Given the description of an element on the screen output the (x, y) to click on. 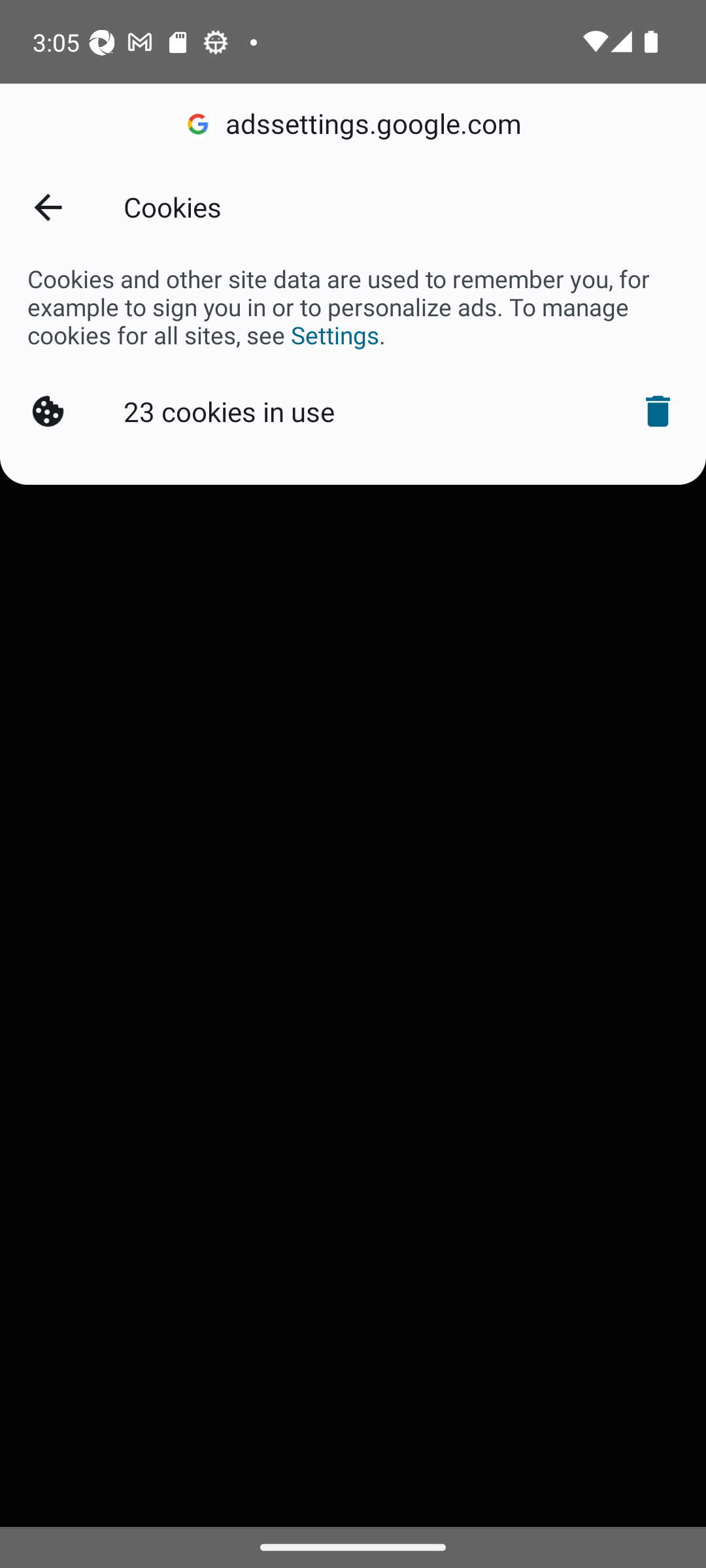
adssettings.google.com (353, 124)
Back (47, 206)
23 cookies in use Clear cookies? (353, 411)
